Given the description of an element on the screen output the (x, y) to click on. 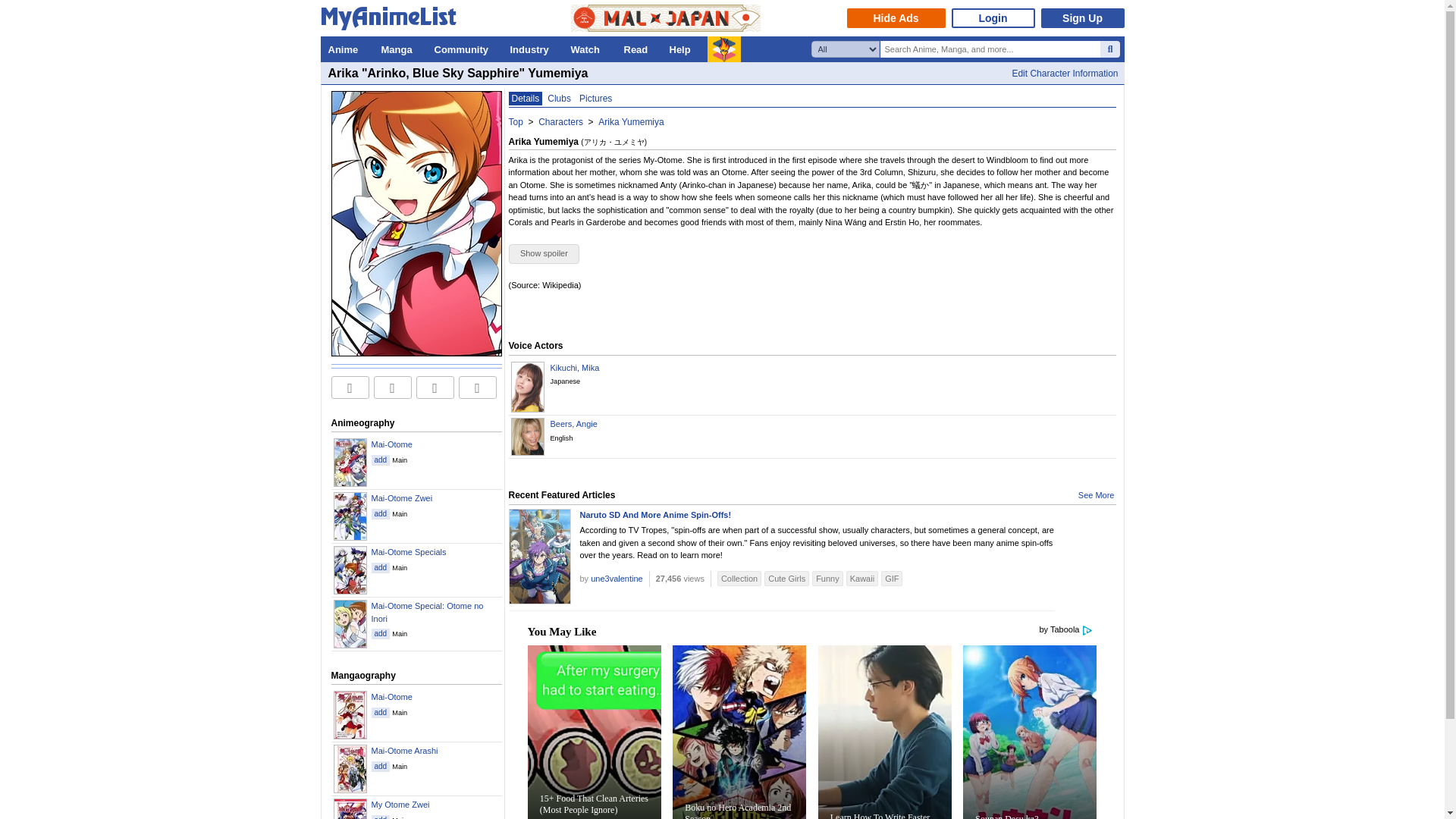
Funny (827, 578)
MyAnimeList.net (392, 21)
Login (991, 17)
Manga (399, 49)
MAL x JAPAN (665, 17)
Community (464, 49)
Collection (739, 578)
Industry (532, 49)
GIF (891, 578)
Hide Ads (894, 17)
